Given the description of an element on the screen output the (x, y) to click on. 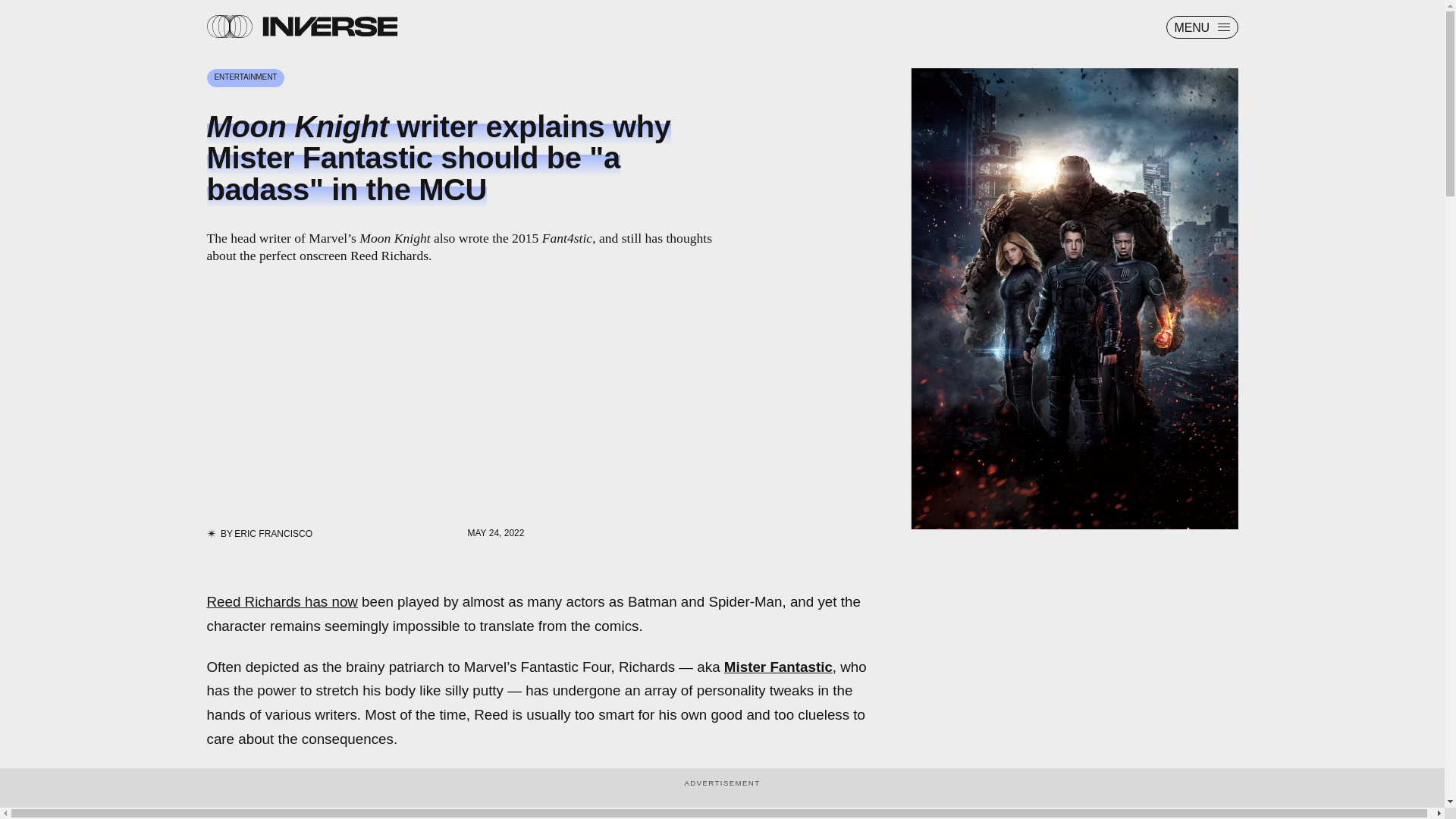
ERIC FRANCISCO (273, 533)
Mister Fantastic (777, 666)
Inverse (328, 26)
